Given the description of an element on the screen output the (x, y) to click on. 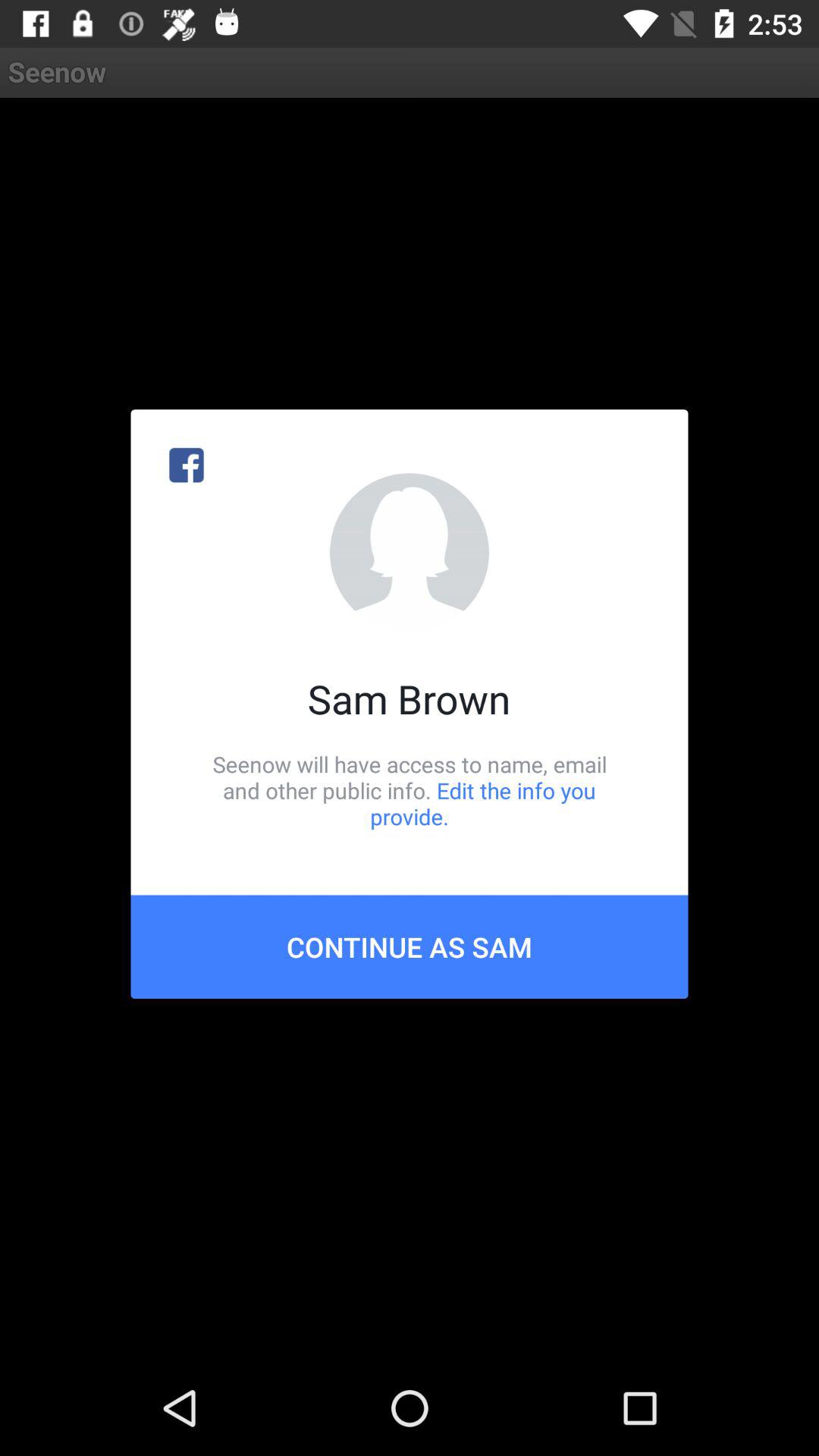
launch the continue as sam (409, 946)
